Given the description of an element on the screen output the (x, y) to click on. 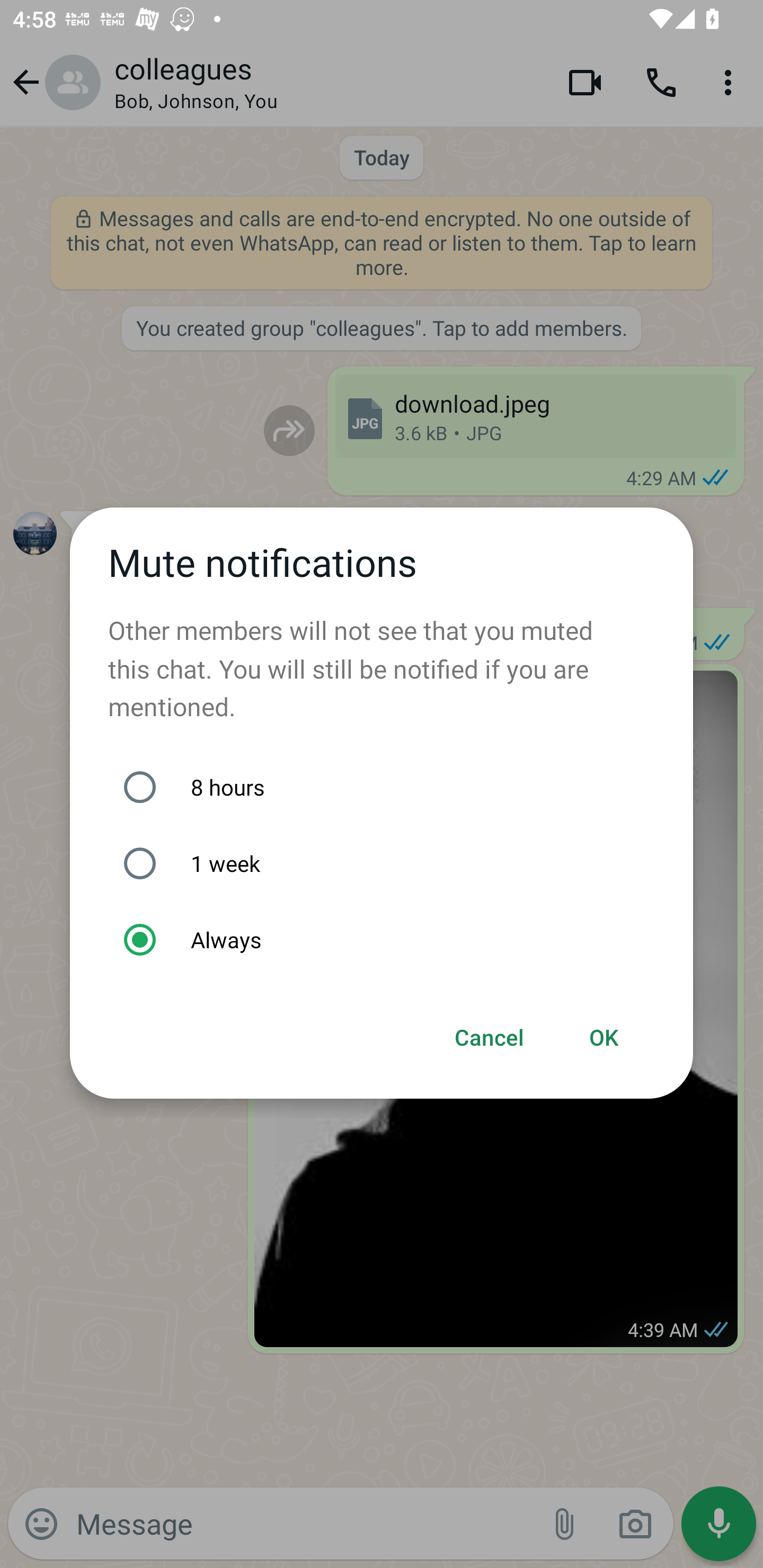
8 hours (390, 787)
1 week (390, 863)
Always (390, 939)
Cancel (489, 1037)
OK (603, 1037)
